Given the description of an element on the screen output the (x, y) to click on. 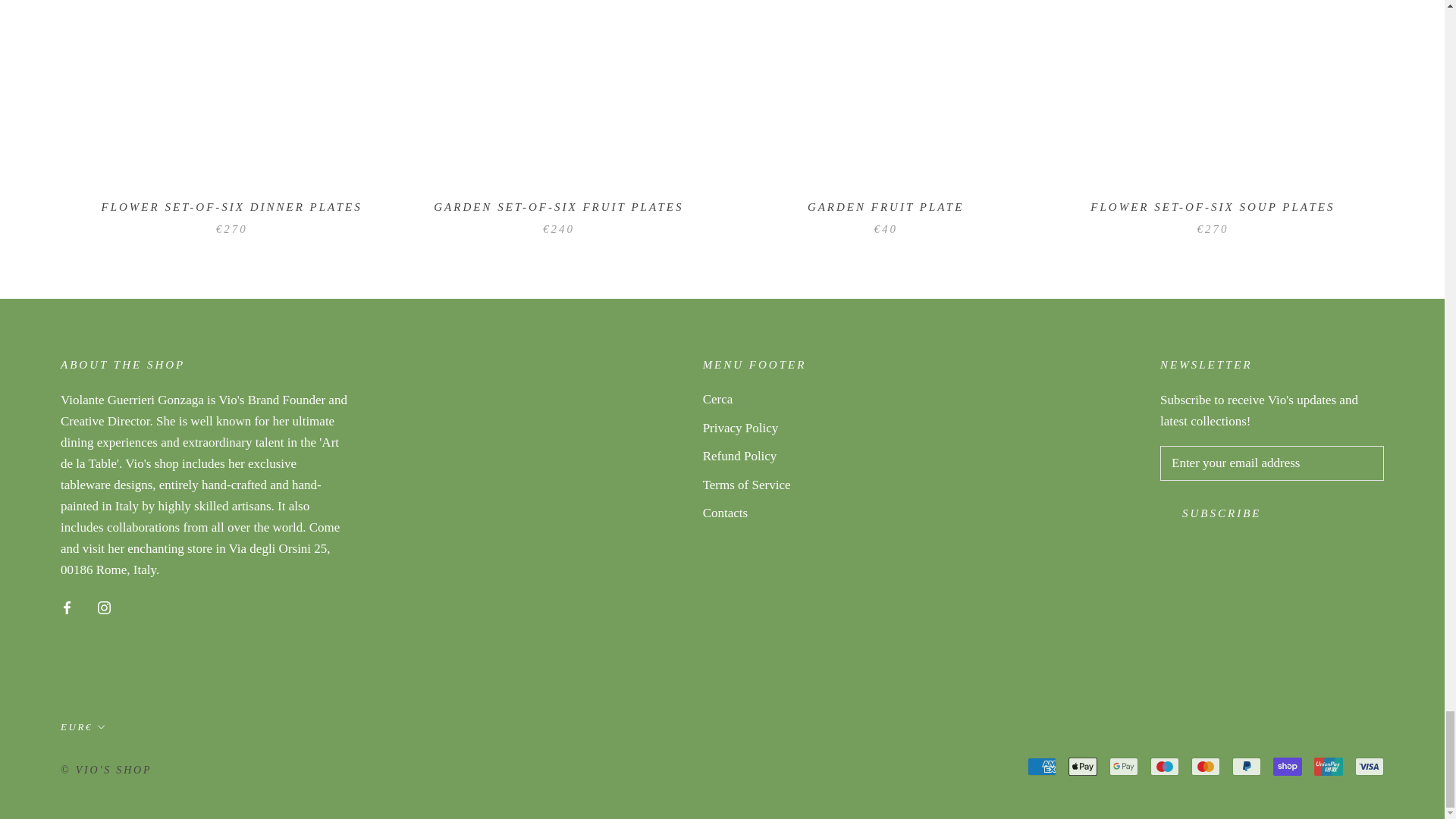
Mastercard (1205, 766)
American Express (1042, 766)
PayPal (1245, 766)
Shop Pay (1286, 766)
Maestro (1164, 766)
Apple Pay (1082, 766)
Google Pay (1123, 766)
